Given the description of an element on the screen output the (x, y) to click on. 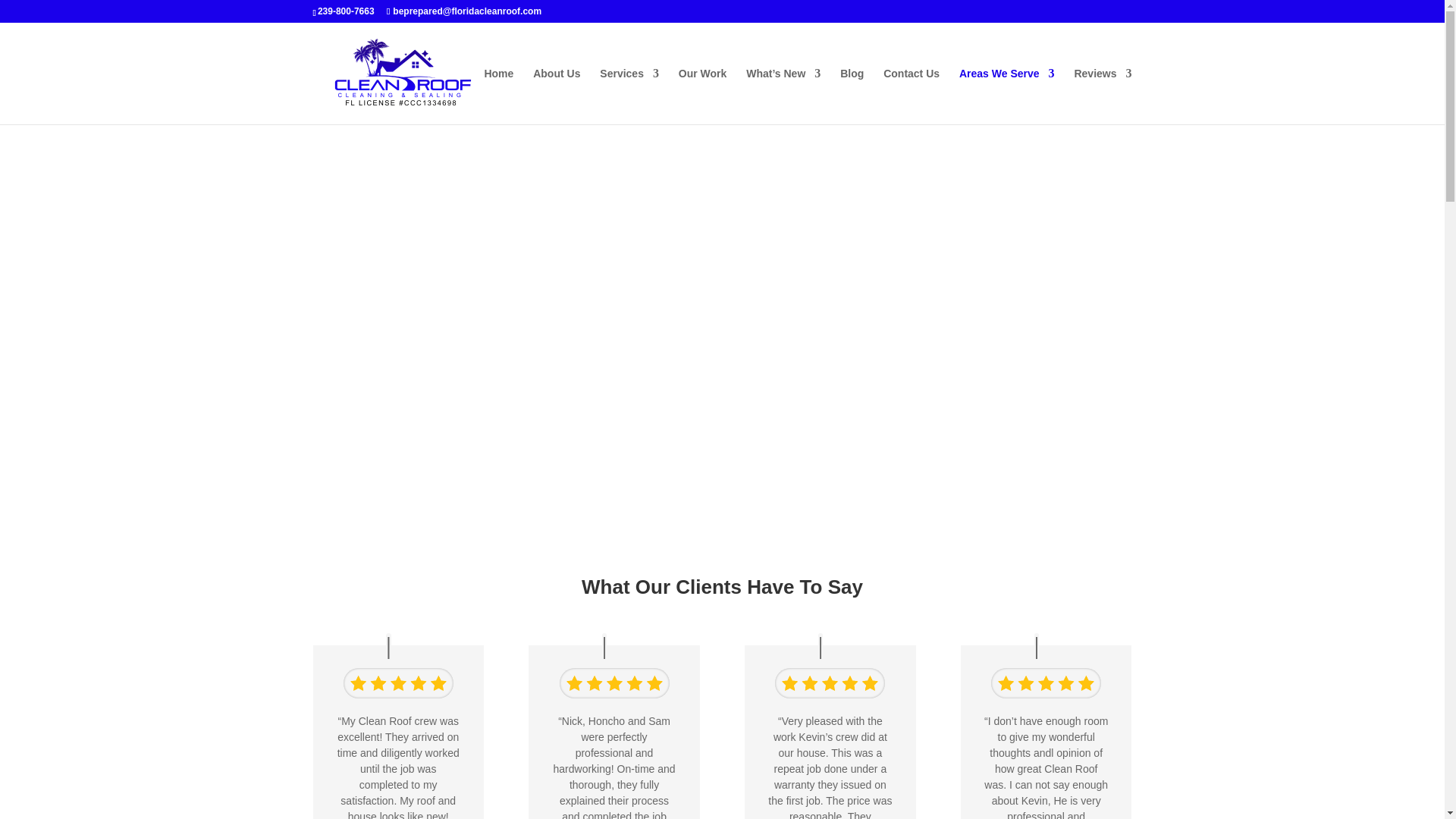
Get in Touch with Us (911, 95)
Contact Us (911, 95)
Services (629, 95)
Florida Clean Roof Services (629, 95)
Stay Updated with Florida Clean Roof (783, 95)
Reviews (1102, 95)
Areas We Serve (1006, 95)
